Given the description of an element on the screen output the (x, y) to click on. 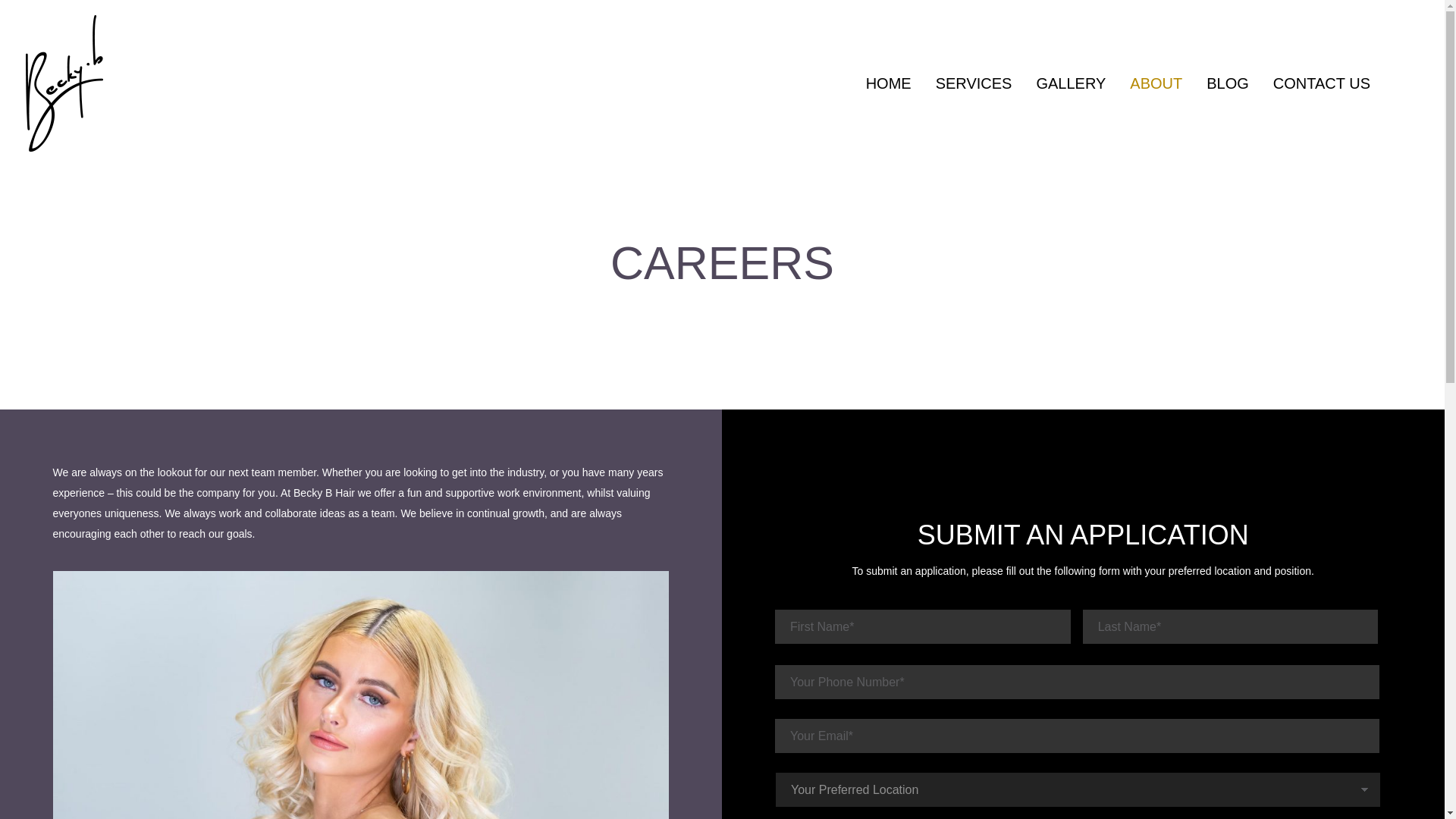
CONTACT US (1320, 83)
SERVICES (973, 83)
HOME (888, 83)
ABOUT (1156, 83)
BLOG (1227, 83)
GALLERY (1070, 83)
